Given the description of an element on the screen output the (x, y) to click on. 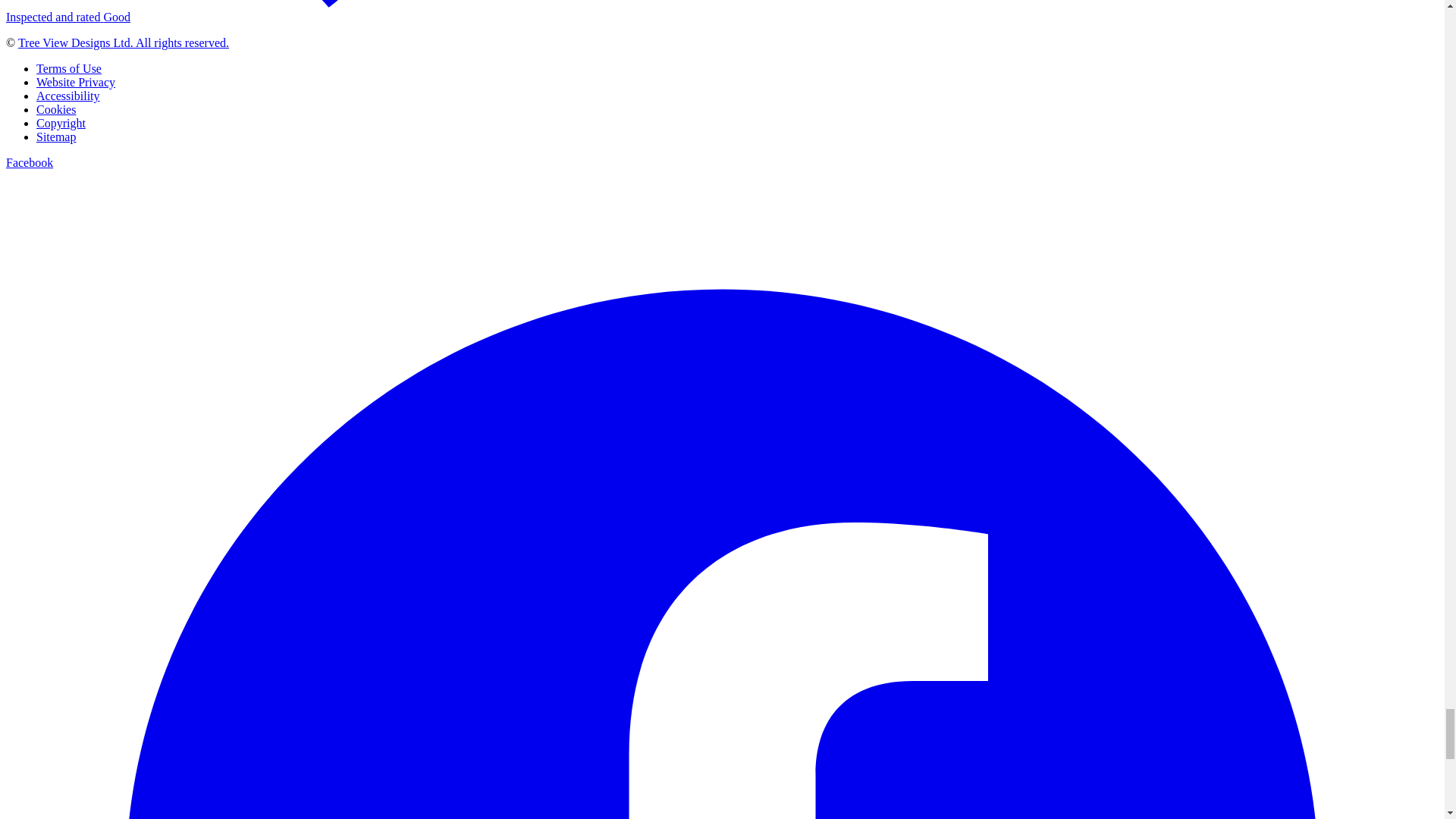
Tree View Designs Ltd. All rights reserved. (122, 42)
Accessibility (68, 95)
Cookies (55, 109)
Copyright (60, 123)
Sitemap (55, 136)
Website Privacy (75, 82)
Terms of Use (68, 68)
